Given the description of an element on the screen output the (x, y) to click on. 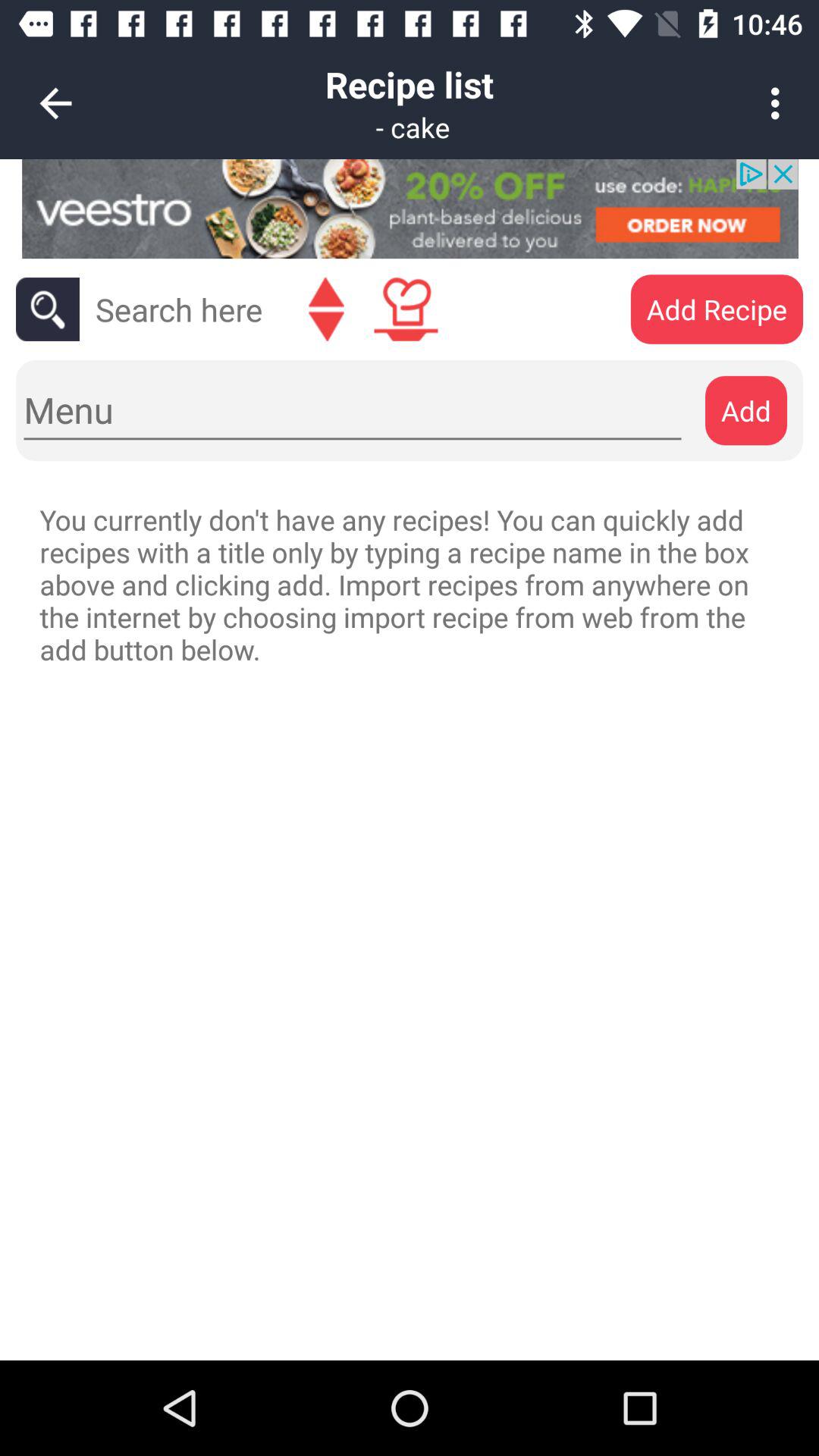
go back (326, 309)
